Given the description of an element on the screen output the (x, y) to click on. 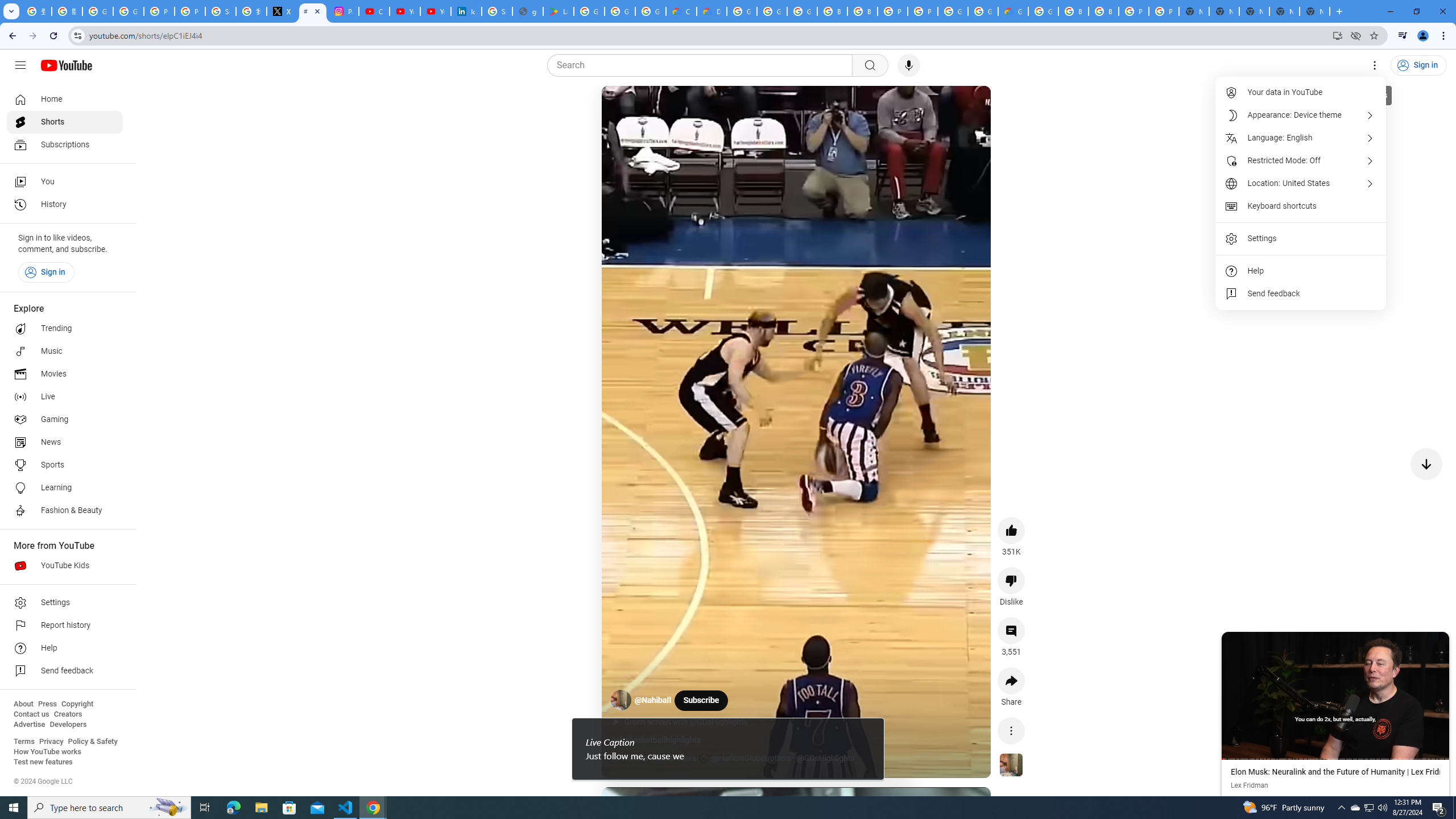
Expand (i) (1232, 643)
Dislike this video (1011, 580)
Music (64, 350)
Search with your voice (908, 65)
Settings Settings (1374, 65)
#nbabasketballhighlights (655, 740)
Press (46, 703)
Developers (68, 724)
Install YouTube (1336, 35)
More actions (1011, 730)
